Given the description of an element on the screen output the (x, y) to click on. 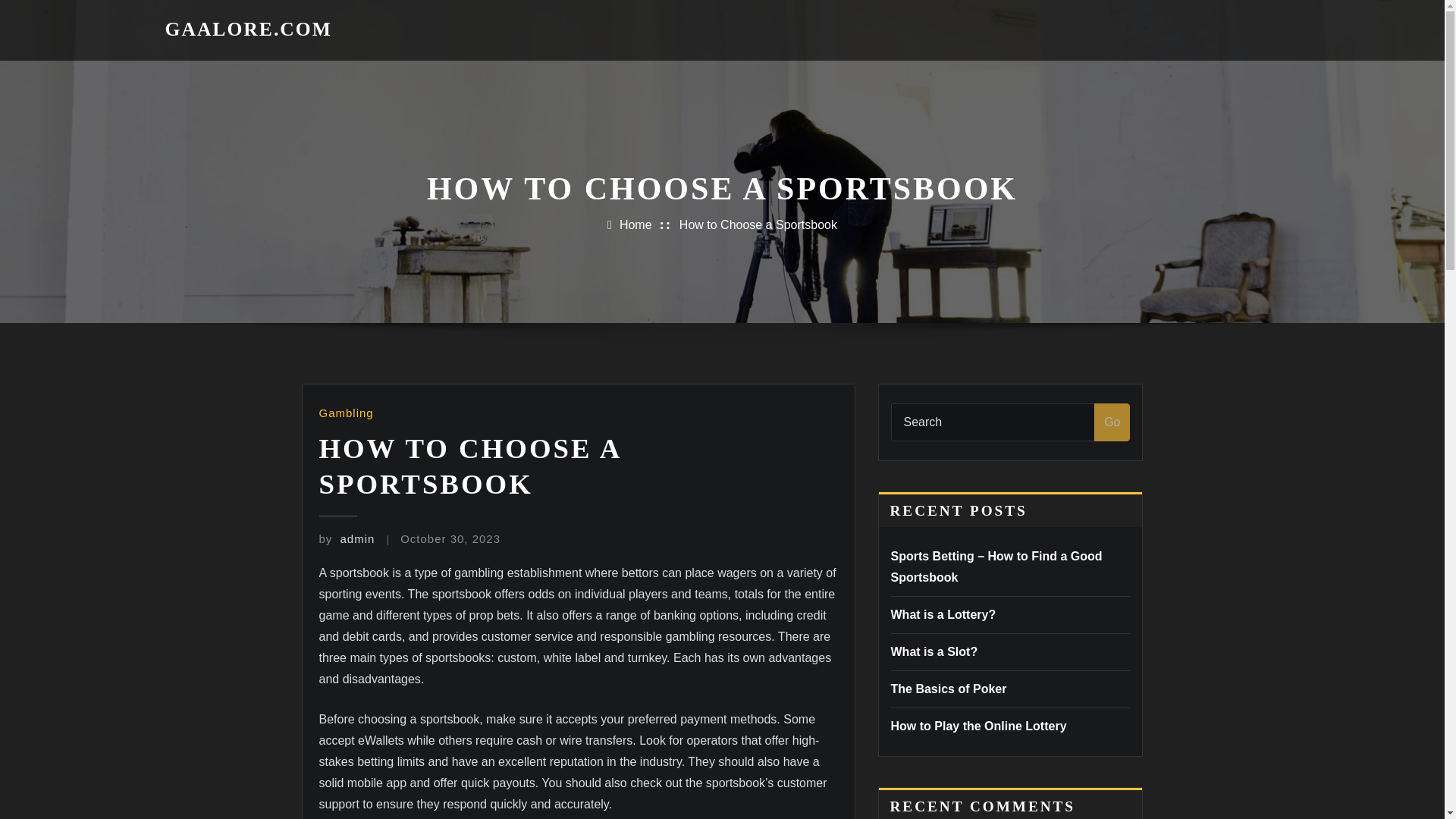
How to Play the Online Lottery (977, 725)
The Basics of Poker (947, 688)
Home (636, 224)
How to Choose a Sportsbook (758, 224)
Go (1111, 422)
October 30, 2023 (450, 538)
Gambling (345, 412)
What is a Slot? (932, 651)
GAALORE.COM (248, 29)
by admin (346, 538)
